Given the description of an element on the screen output the (x, y) to click on. 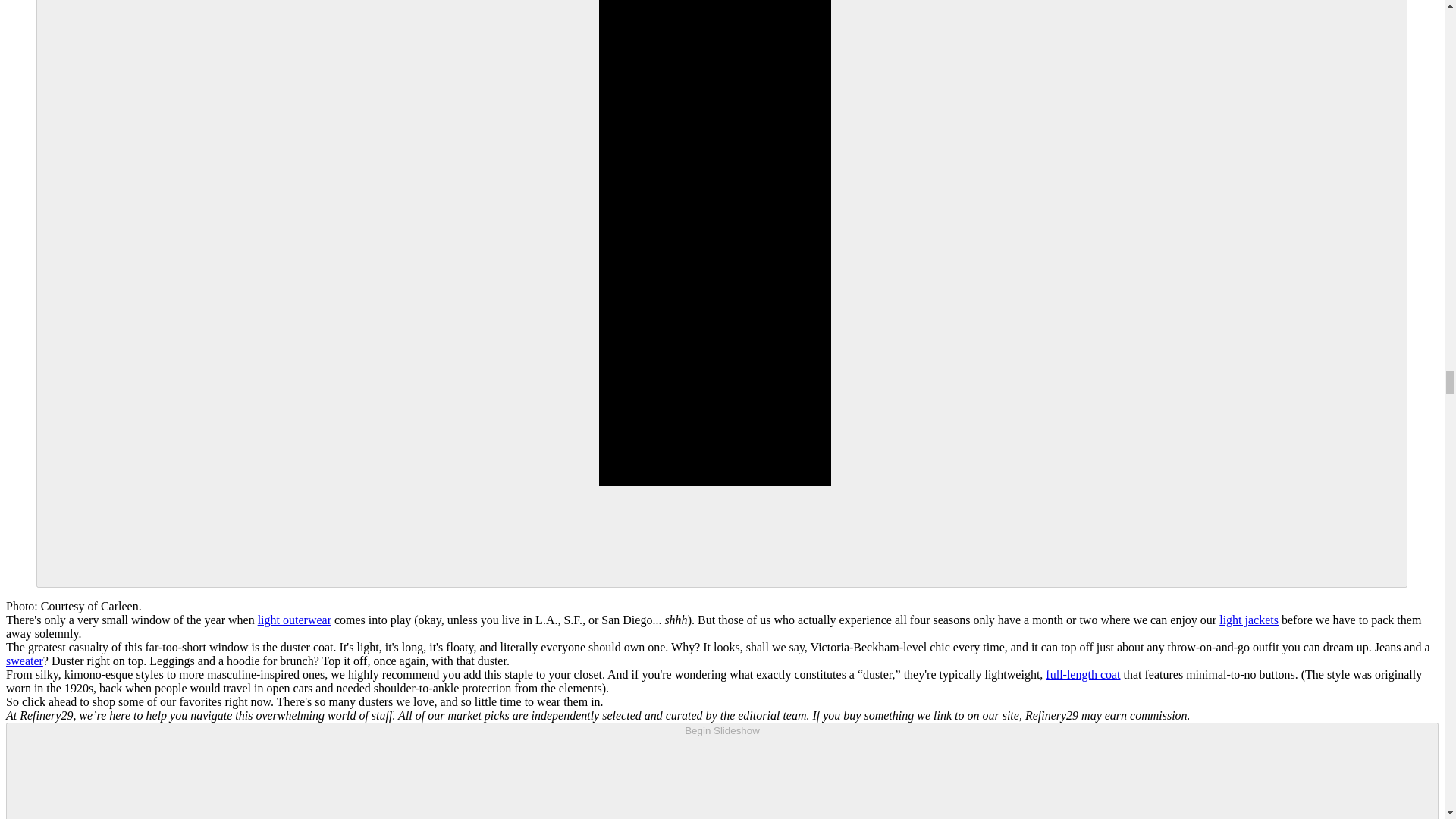
full-length coat (1082, 674)
light outerwear (294, 619)
sweater (24, 660)
light jackets (1249, 619)
